Given the description of an element on the screen output the (x, y) to click on. 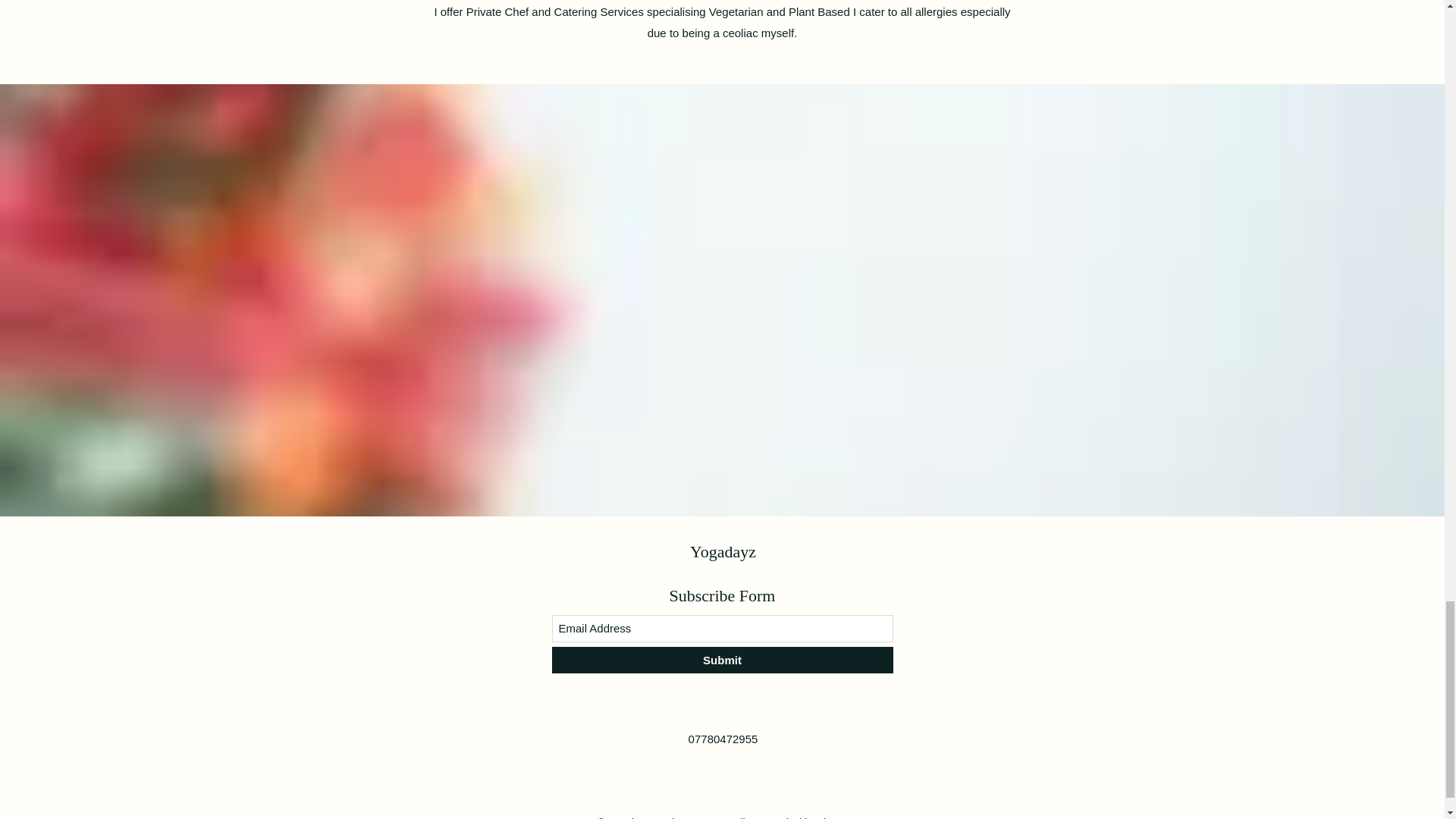
Yogadayz (722, 551)
Submit (722, 660)
